Given the description of an element on the screen output the (x, y) to click on. 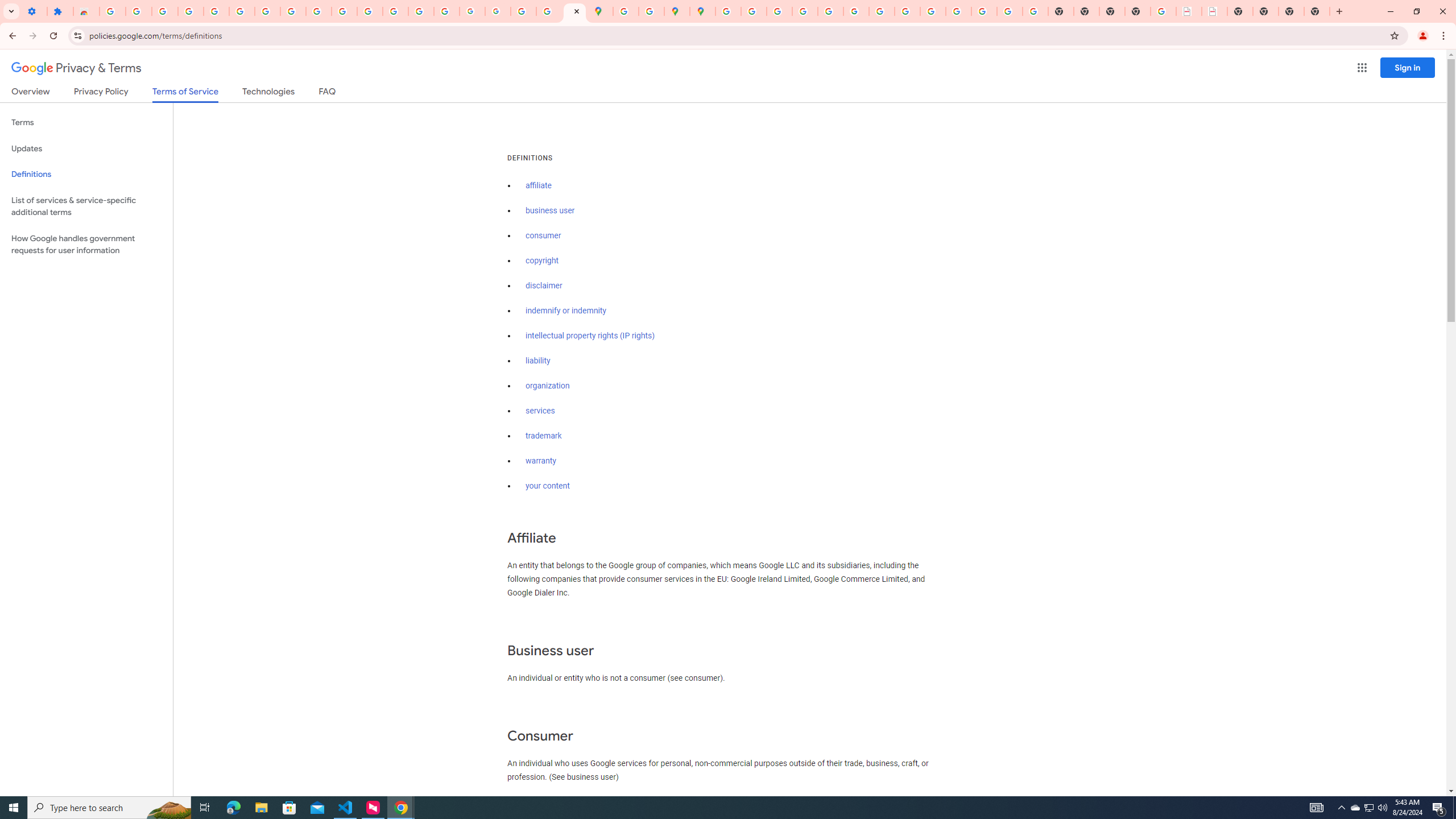
New Tab (1137, 11)
Terms of Service (184, 94)
copyright (542, 260)
Google Images (1034, 11)
your content (547, 486)
